Given the description of an element on the screen output the (x, y) to click on. 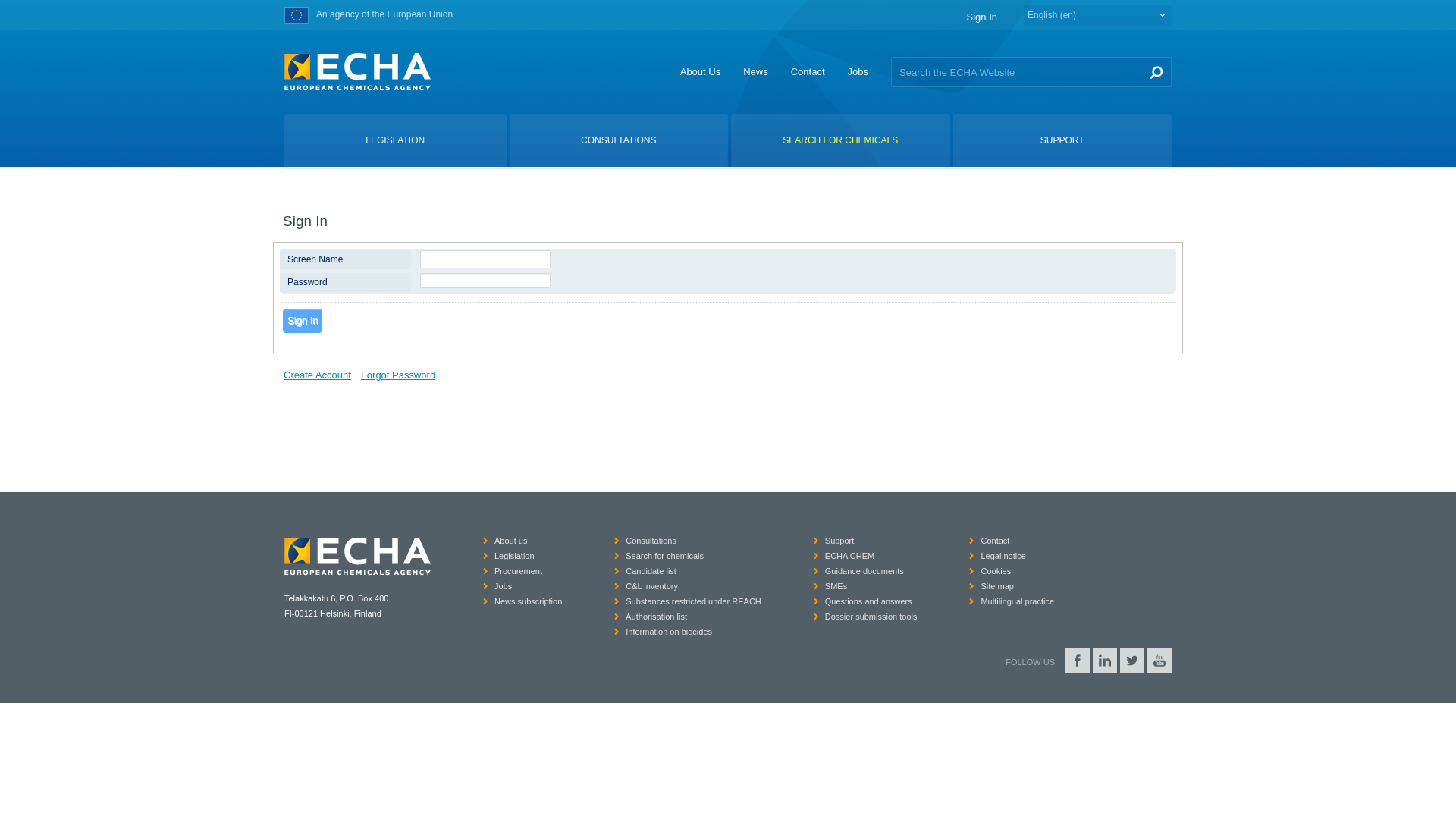
Jobs (857, 71)
News (755, 71)
LEGISLATION (394, 140)
About Us (699, 71)
Search (1155, 71)
Search (1155, 71)
Contact (807, 71)
Visit the official website of the European Union (295, 14)
Search (1155, 71)
Select (1097, 14)
Sign In (981, 16)
